Given the description of an element on the screen output the (x, y) to click on. 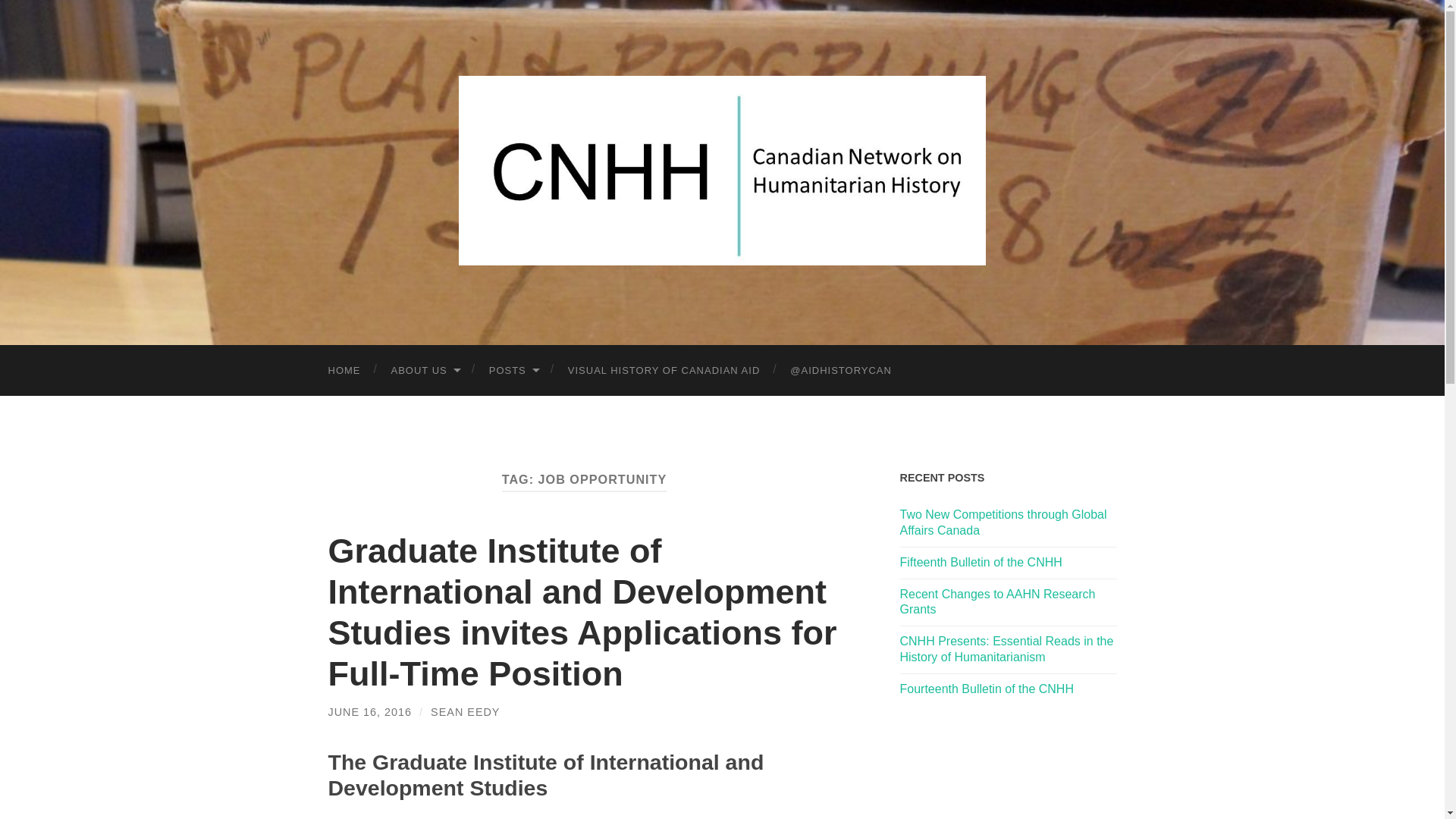
Recent Changes to AAHN Research Grants (996, 602)
JUNE 16, 2016 (369, 711)
SEAN EEDY (464, 711)
Fifteenth Bulletin of the CNHH (980, 562)
POSTS (513, 369)
Two New Competitions through Global Affairs Canada (1002, 522)
Fourteenth Bulletin of the CNHH (986, 688)
Canadian Network on Humanitarian History (721, 170)
Posts by Sean Eedy (464, 711)
VISUAL HISTORY OF CANADIAN AID (663, 369)
ABOUT US (424, 369)
HOME (344, 369)
